Given the description of an element on the screen output the (x, y) to click on. 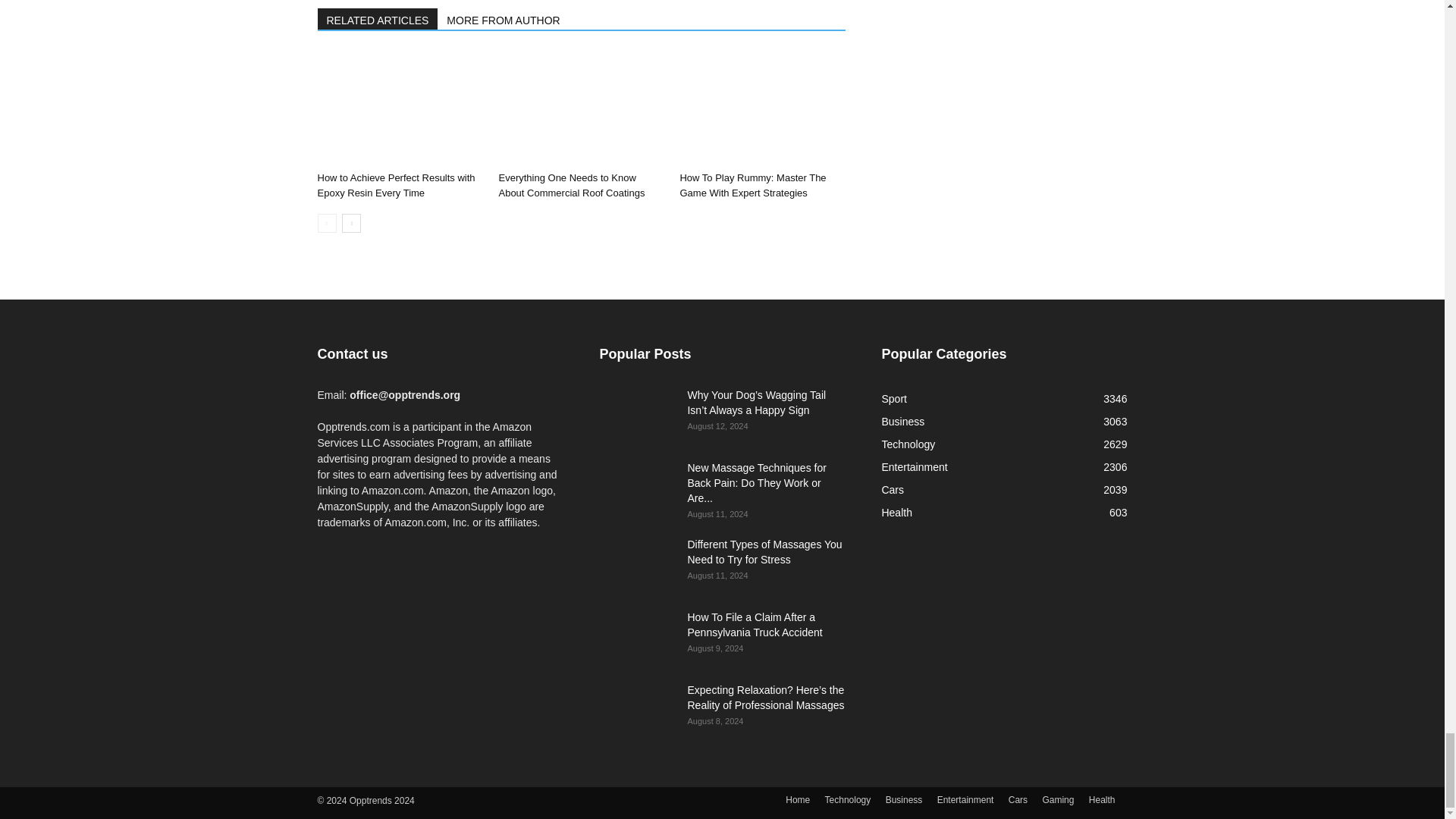
How to Achieve Perfect Results with Epoxy Resin Every Time (395, 185)
Everything One Needs to Know About Commercial Roof Coatings (571, 185)
How to Achieve Perfect Results with Epoxy Resin Every Time (399, 108)
How To Play Rummy: Master The Game With Expert Strategies (761, 108)
Everything One Needs to Know About Commercial Roof Coatings (580, 108)
